Given the description of an element on the screen output the (x, y) to click on. 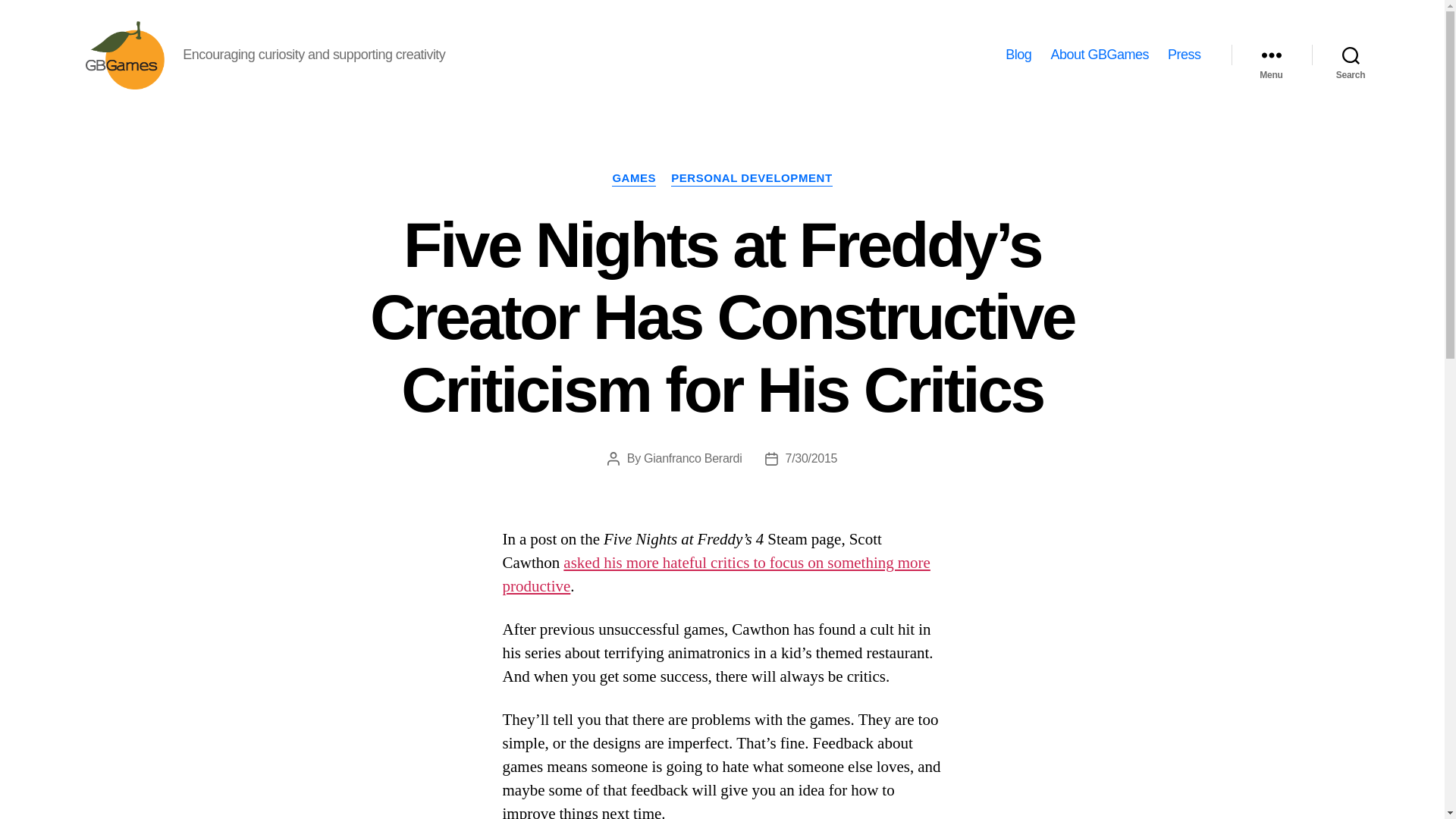
Blog (1018, 54)
PERSONAL DEVELOPMENT (751, 178)
About GBGames (1098, 54)
Press (1184, 54)
Gianfranco Berardi (692, 458)
Search (1350, 55)
GAMES (633, 178)
Menu (1271, 55)
